Given the description of an element on the screen output the (x, y) to click on. 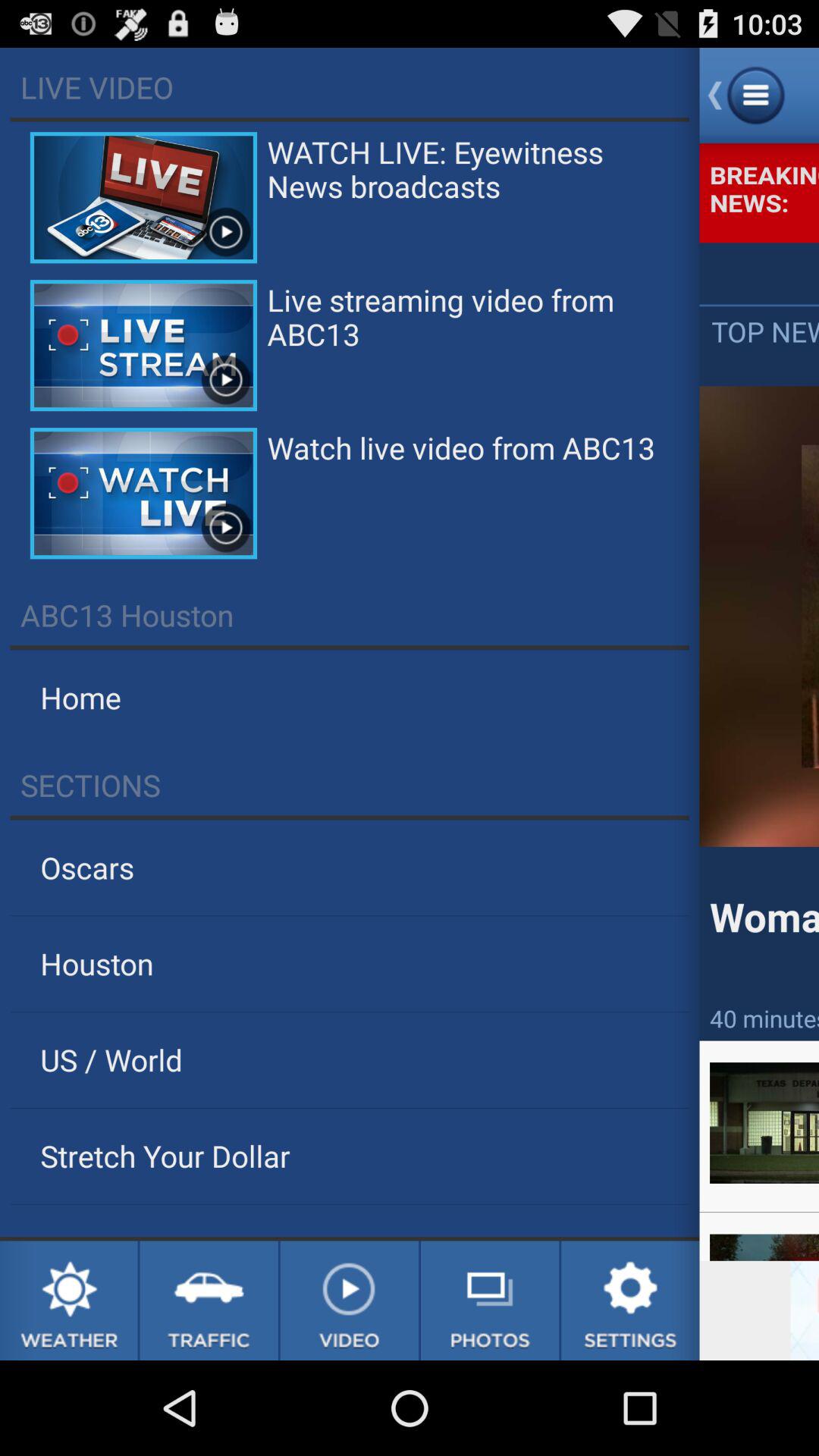
access video (349, 1300)
